Given the description of an element on the screen output the (x, y) to click on. 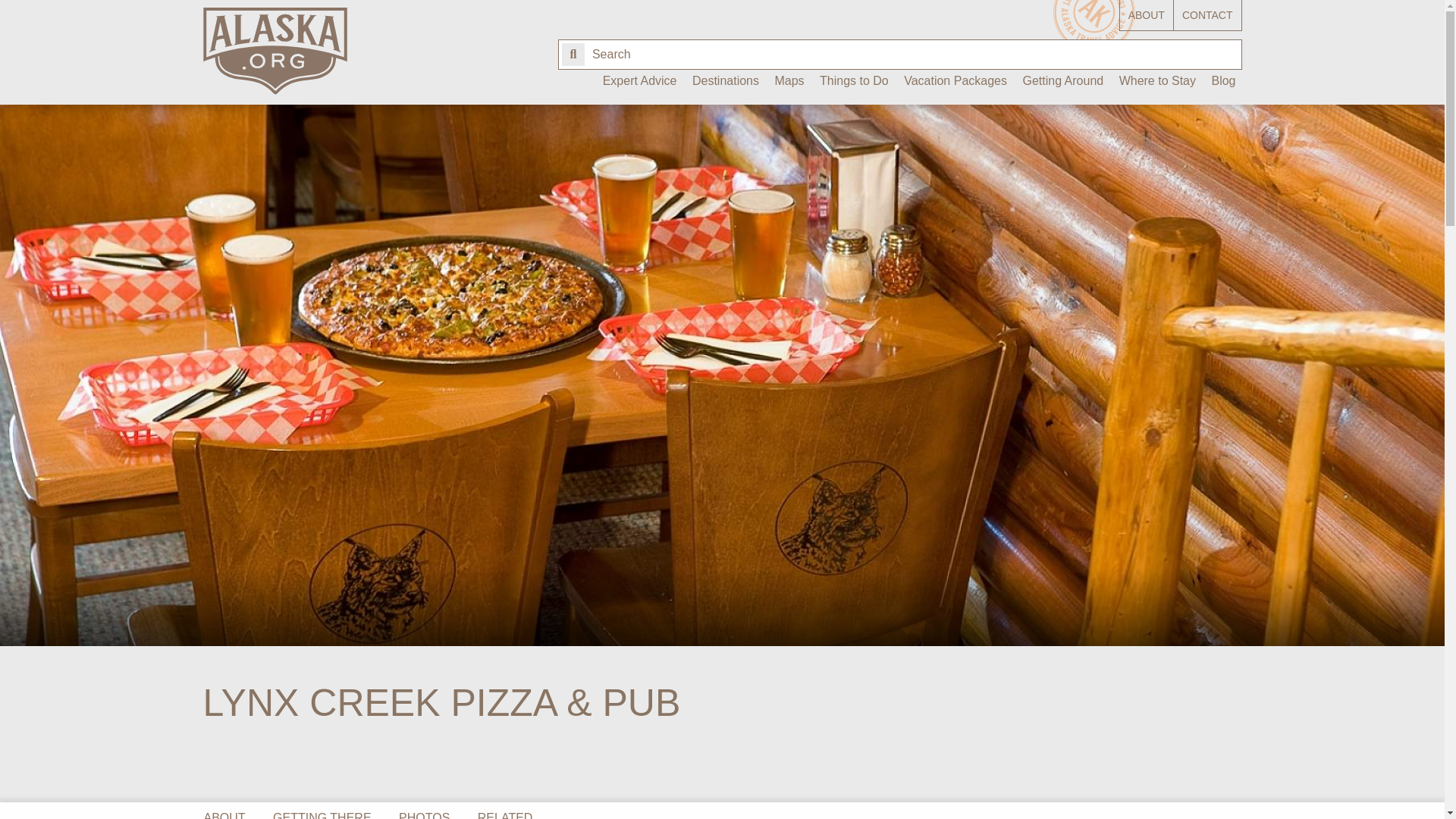
Expert Advice (639, 87)
CONTACT (1207, 15)
Destinations (725, 87)
ABOUT (1146, 15)
